Given the description of an element on the screen output the (x, y) to click on. 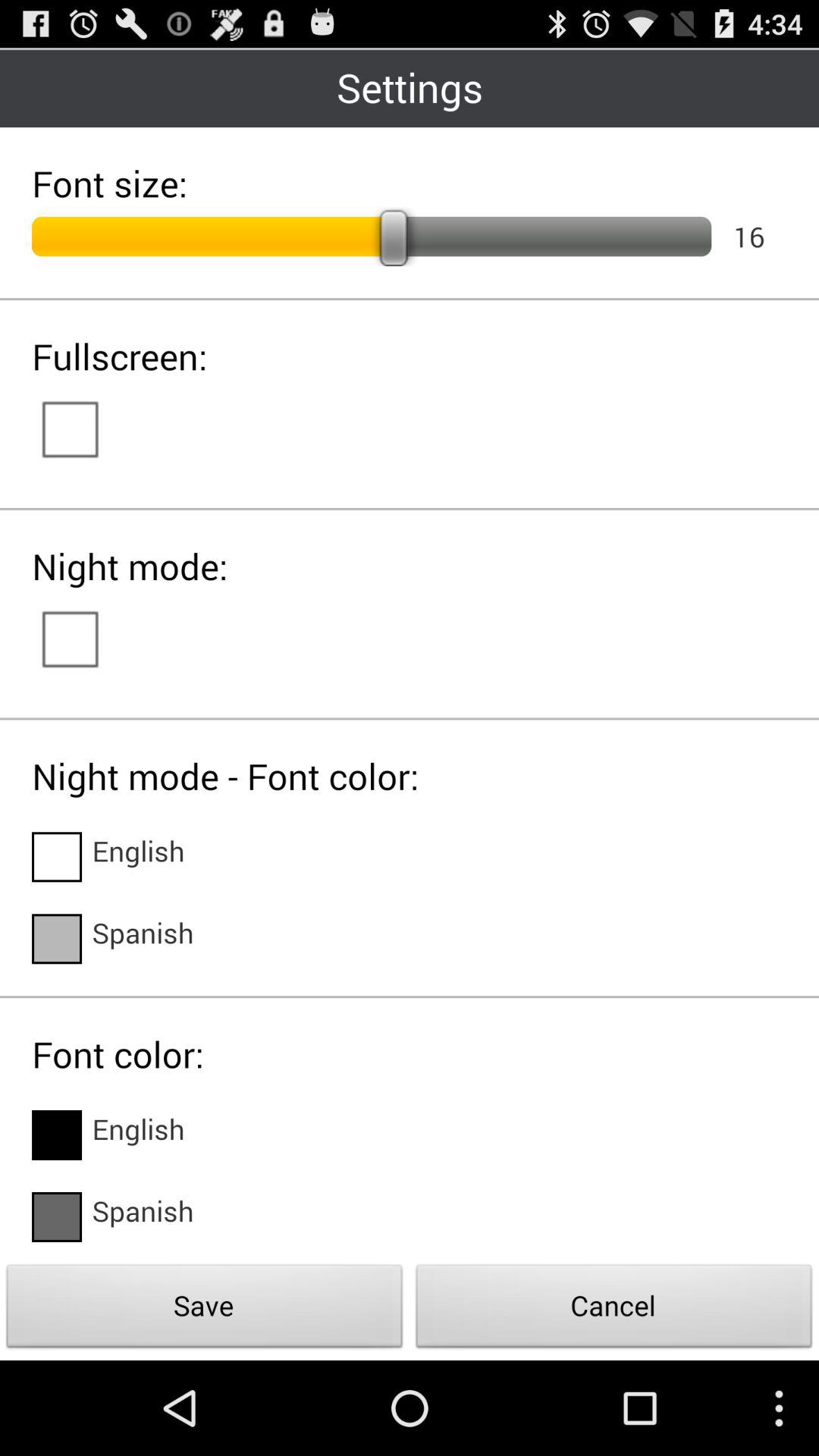
swipe to the cancel item (614, 1310)
